Given the description of an element on the screen output the (x, y) to click on. 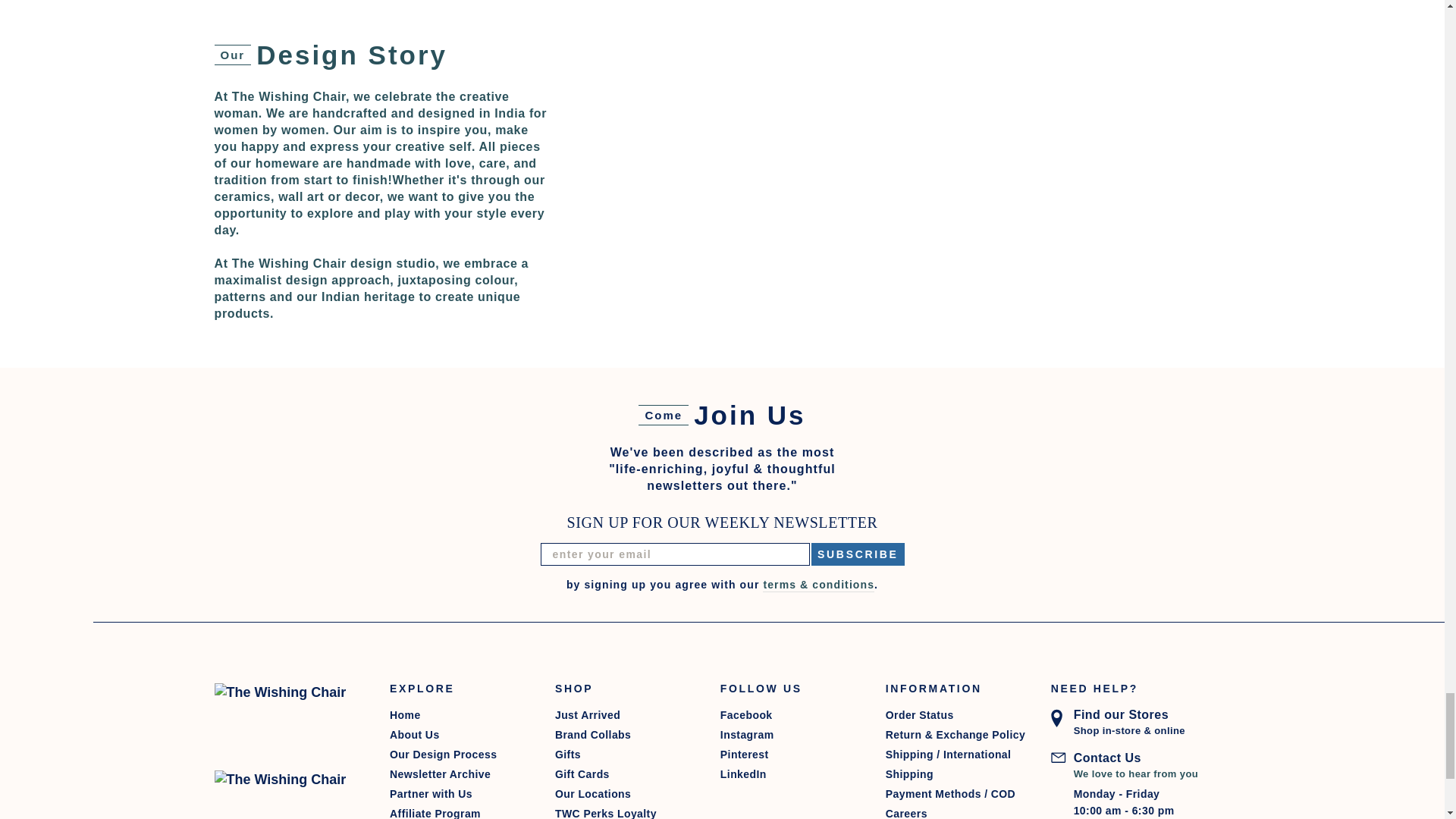
The Wishing Chair on Facebook (788, 714)
The Wishing Chair on Pinterest (788, 754)
The Wishing Chair on Instagram (788, 734)
The Wishing Chair on LinkedIn (788, 773)
